Given the description of an element on the screen output the (x, y) to click on. 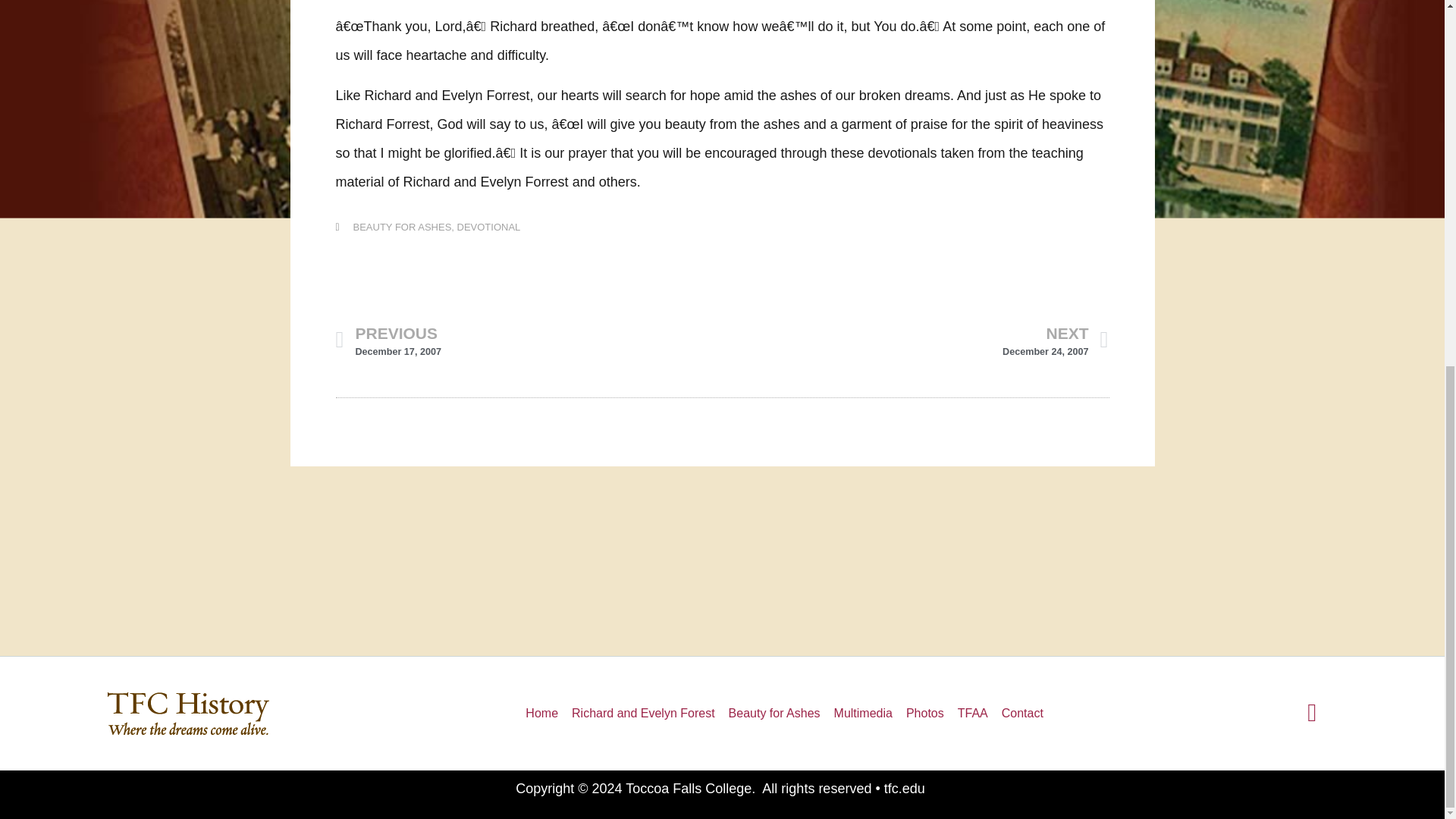
Beauty for Ashes (774, 713)
DEVOTIONAL (489, 226)
Multimedia (528, 340)
Richard and Evelyn Forest (915, 340)
Home (863, 713)
BEAUTY FOR ASHES (643, 713)
Photos (541, 713)
